Given the description of an element on the screen output the (x, y) to click on. 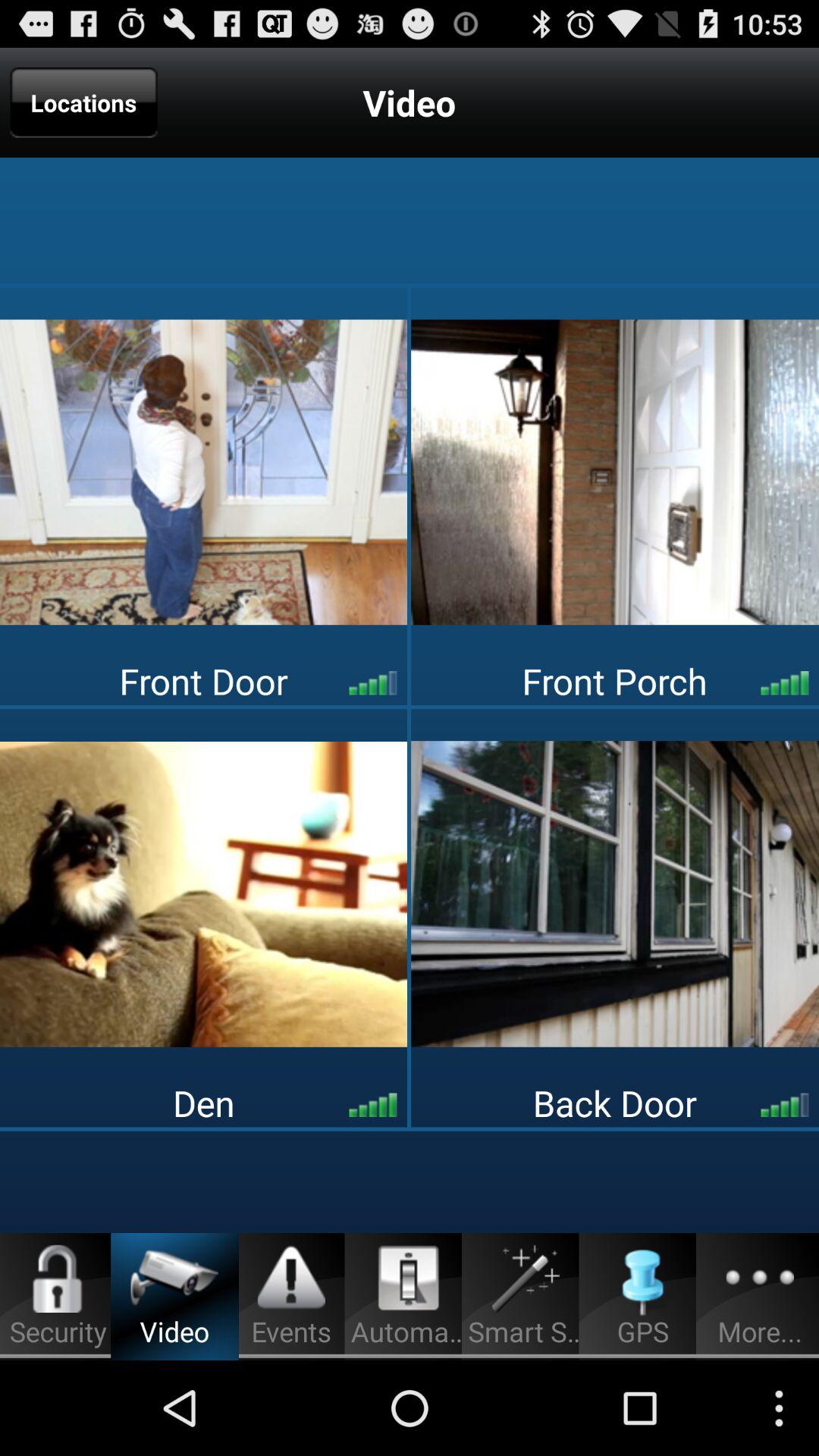
open the item above the front door icon (615, 471)
